Given the description of an element on the screen output the (x, y) to click on. 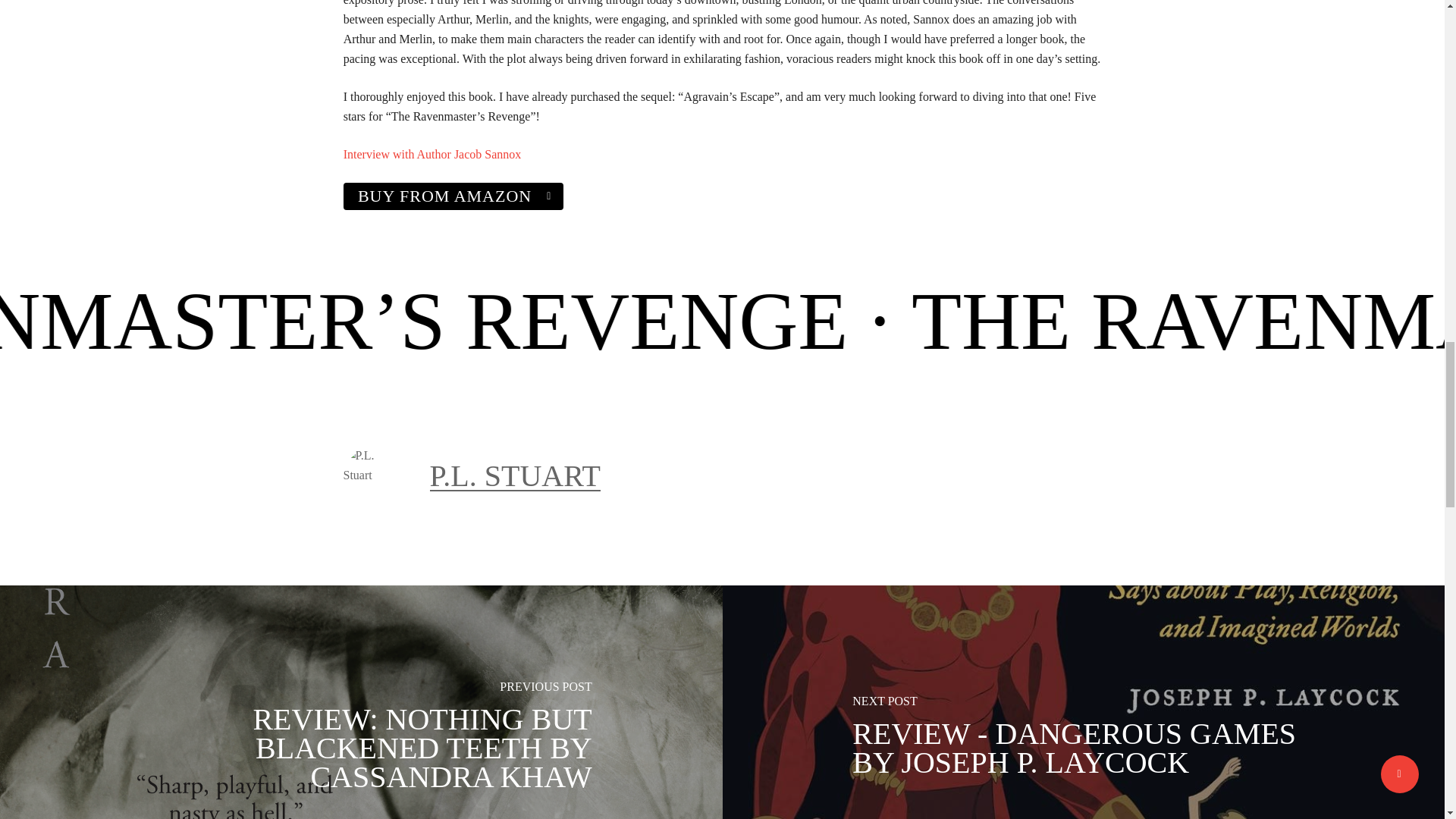
Interview with Author Jacob Sannox (432, 154)
BUY FROM AMAZON (453, 195)
P.L. STUART (514, 475)
